Given the description of an element on the screen output the (x, y) to click on. 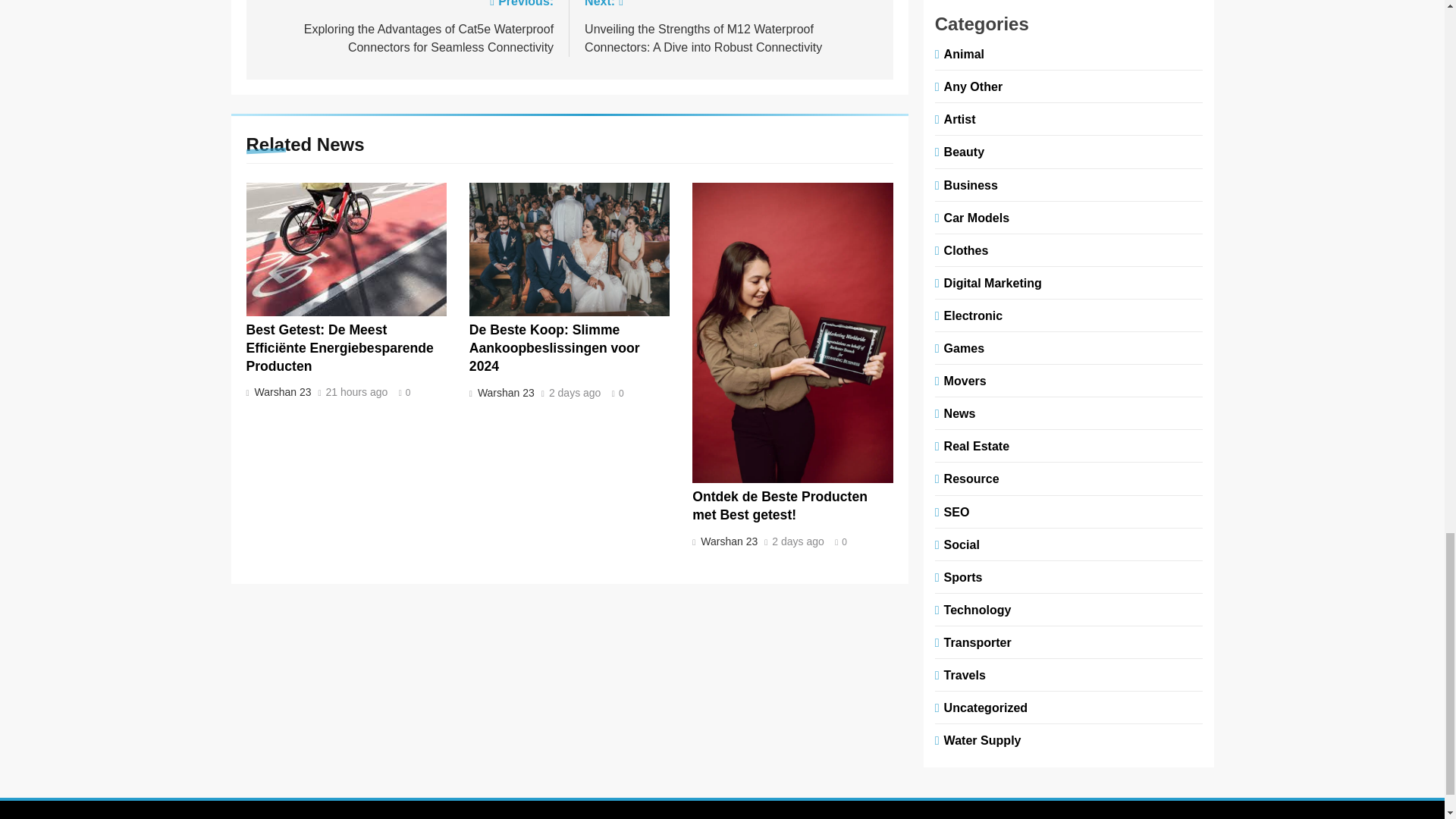
2 days ago (574, 393)
Warshan 23 (727, 541)
De Beste Koop: Slimme Aankoopbeslissingen voor 2024 (554, 347)
2 days ago (797, 542)
Warshan 23 (280, 391)
21 hours ago (357, 392)
Warshan 23 (504, 392)
Ontdek de Beste Producten met Best getest! (780, 505)
